Given the description of an element on the screen output the (x, y) to click on. 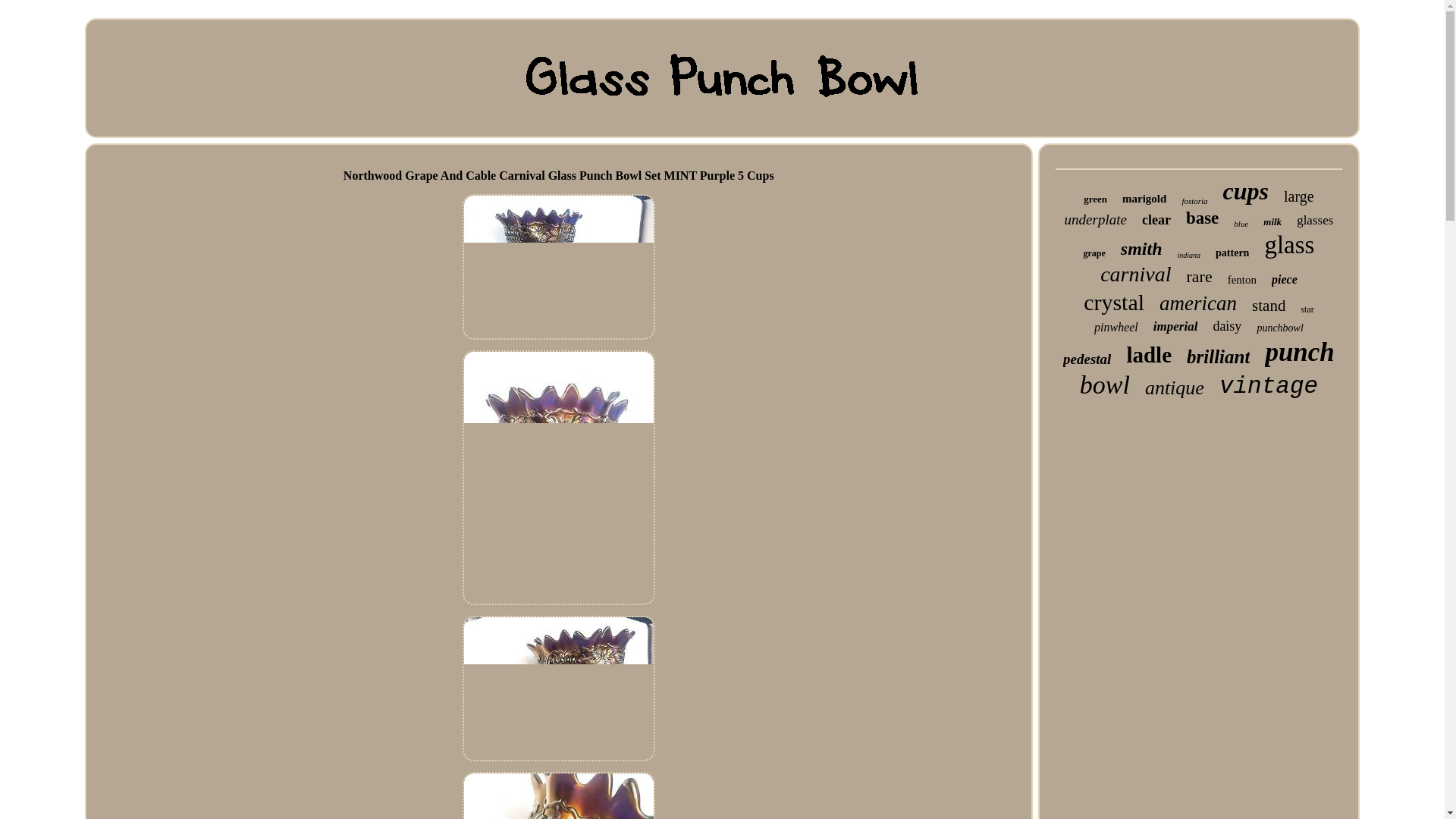
clear (1155, 220)
marigold (1144, 198)
indiana (1189, 254)
large (1299, 196)
rare (1198, 276)
piece (1284, 279)
base (1202, 218)
fenton (1241, 279)
star (1306, 309)
blue (1240, 223)
glass (1288, 244)
carnival (1135, 274)
punchbowl (1279, 328)
daisy (1226, 326)
